Given the description of an element on the screen output the (x, y) to click on. 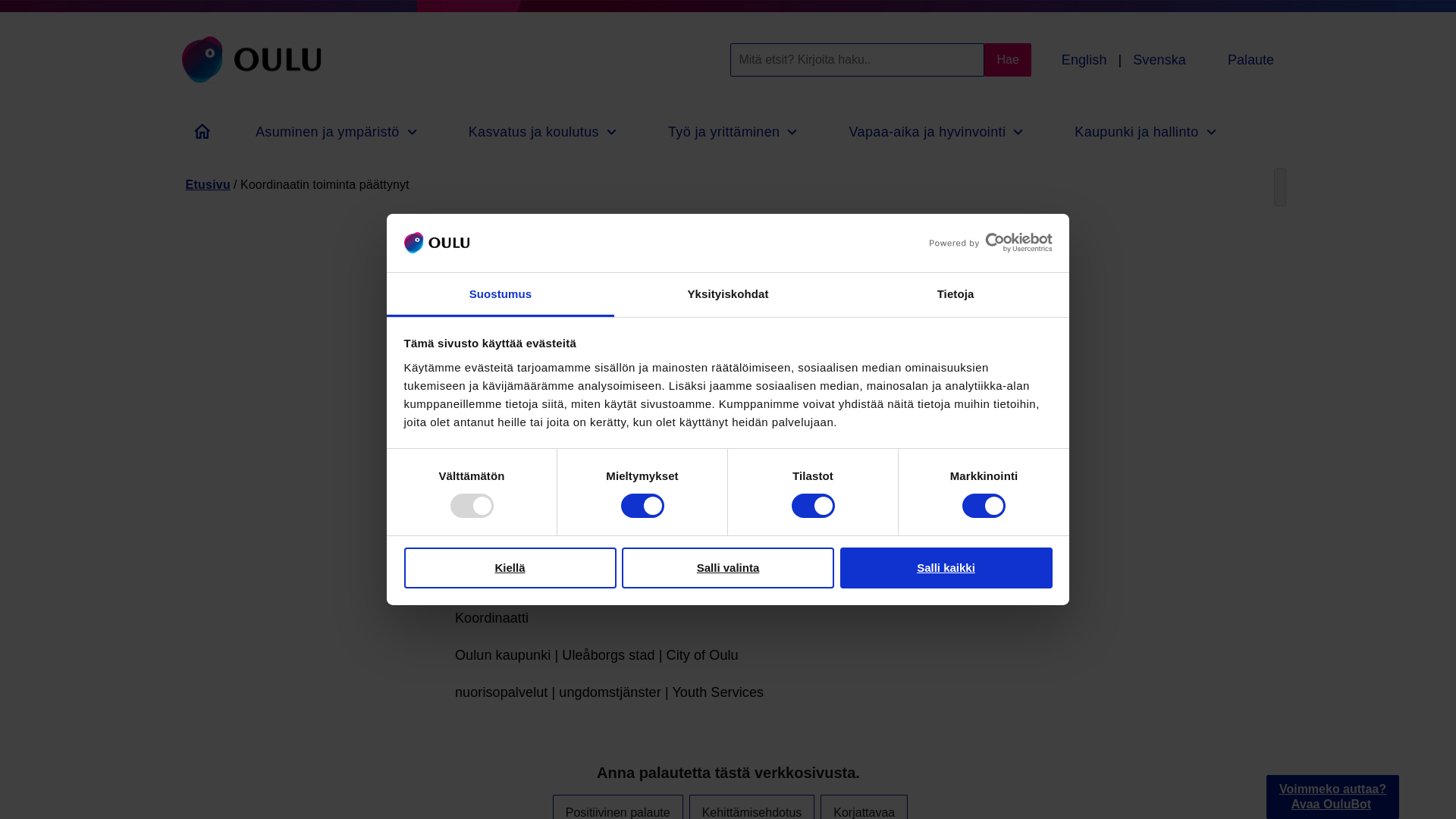
Yksityiskohdat (727, 294)
Tietoja (954, 294)
Suostumus (500, 294)
Hae (1007, 59)
